Given the description of an element on the screen output the (x, y) to click on. 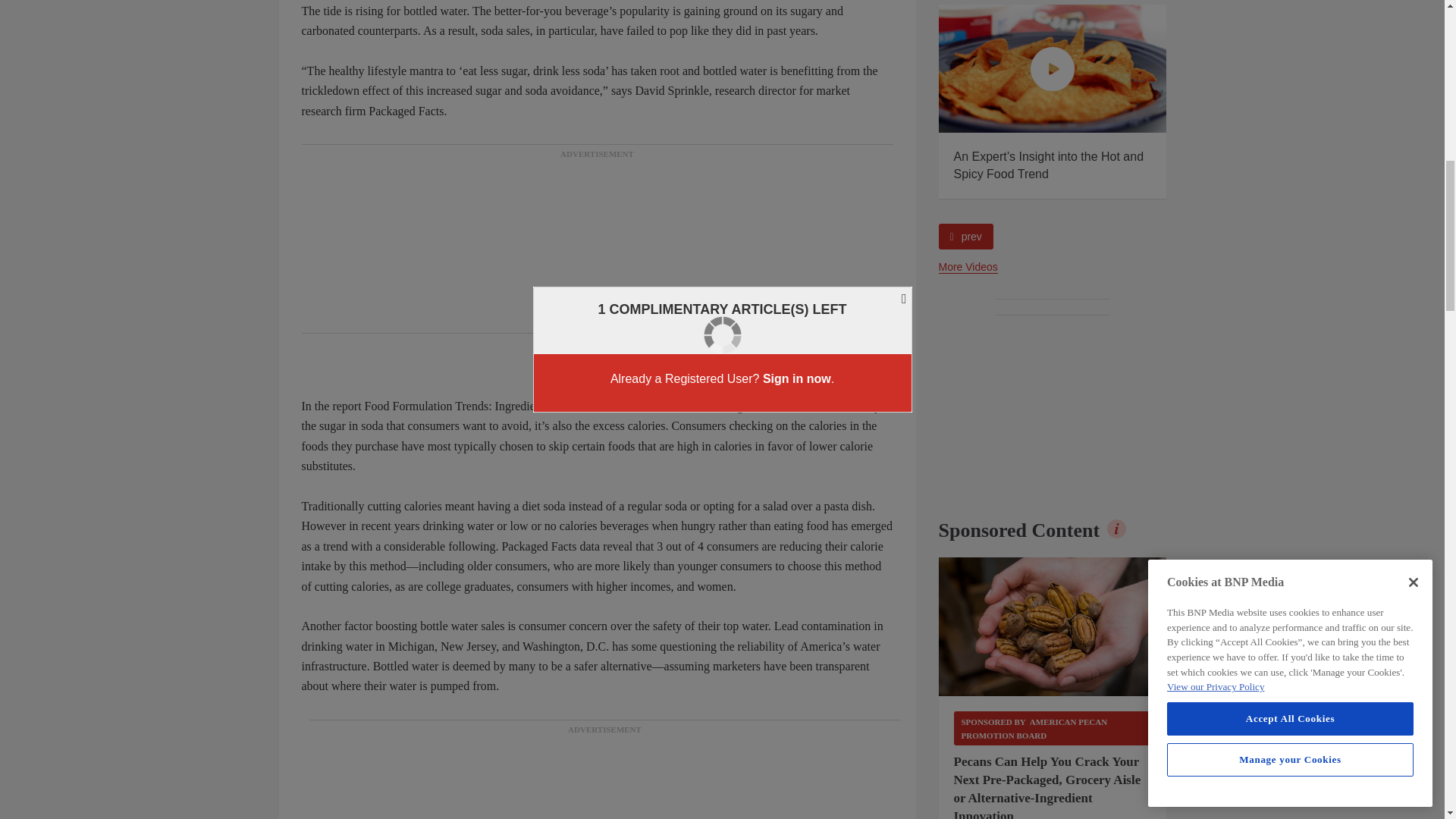
Sponsored by American Pecan Promotion Board (1052, 728)
Handful of Partially Shelled Pecans (1052, 626)
Mars Snacking, Unreasonable Group Announce New Cohort (825, 68)
